Given the description of an element on the screen output the (x, y) to click on. 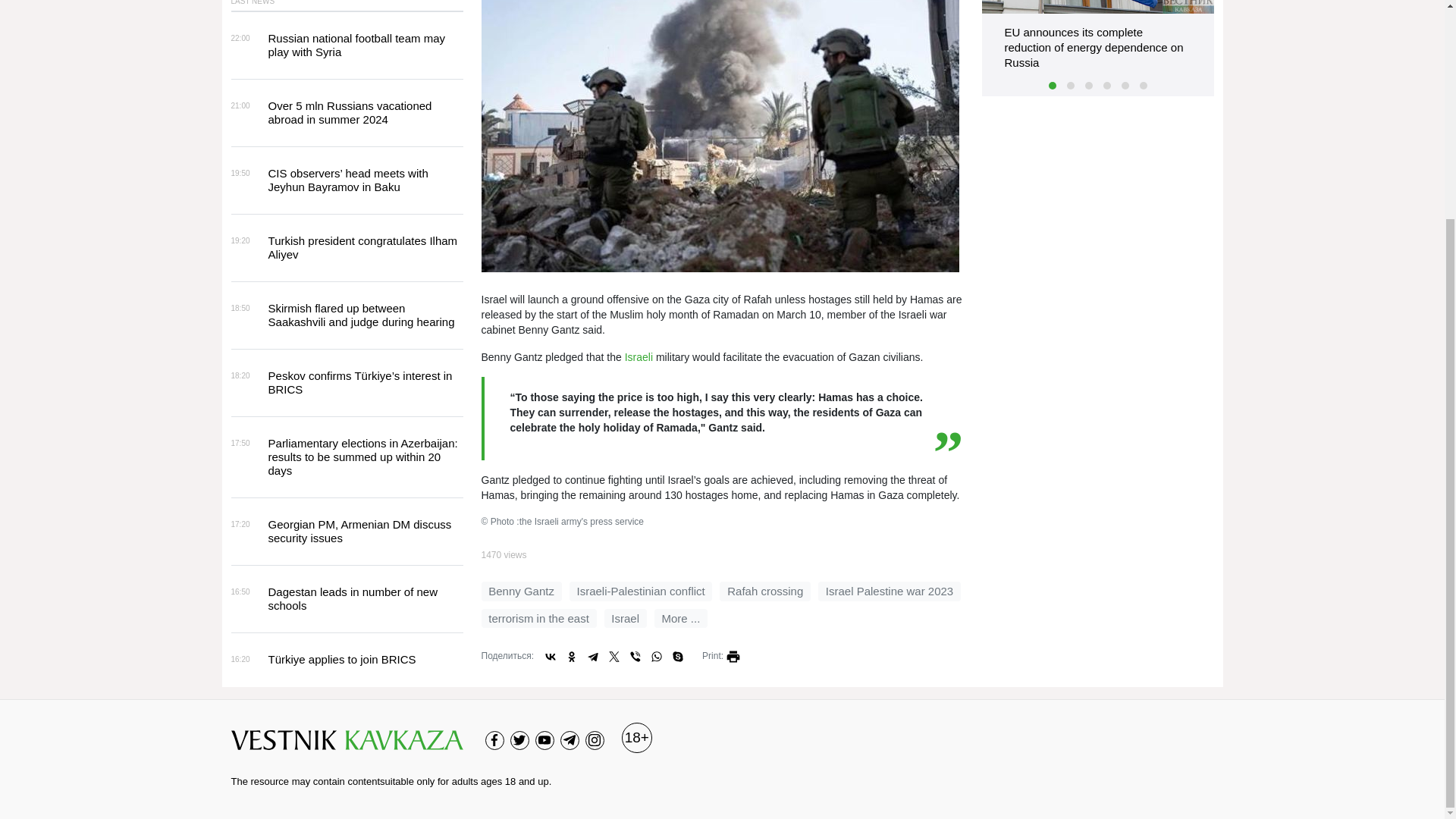
Rafah crossing (764, 591)
Israeli (638, 357)
Israel Palestine war 2023 (889, 591)
the Israeli army's press service (719, 135)
WhatsApp (656, 656)
Israel (625, 618)
Benny Gantz (520, 591)
Israeli-Palestinian conflict (641, 591)
Viber (635, 656)
Skype (677, 656)
